Given the description of an element on the screen output the (x, y) to click on. 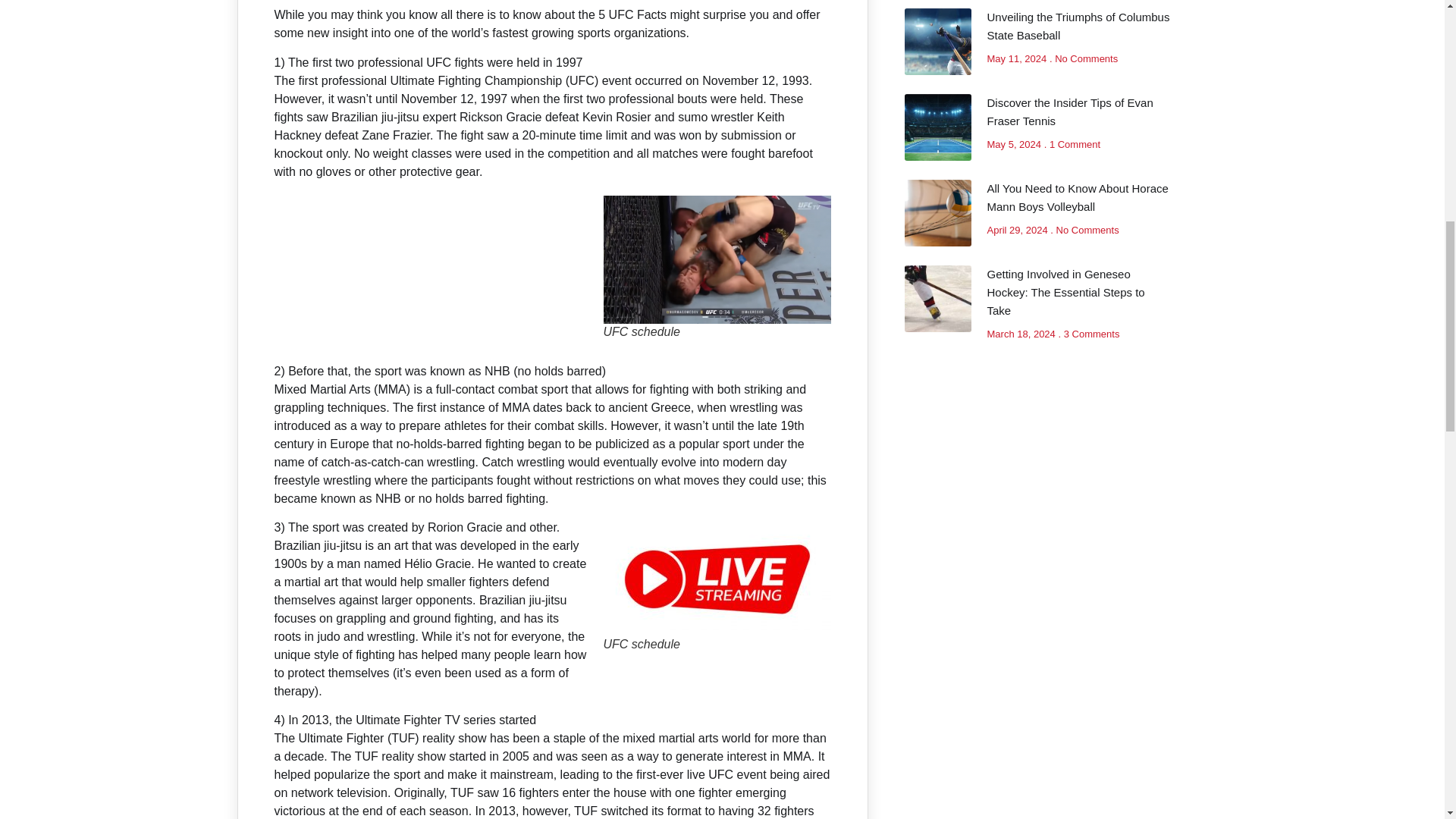
All You Need to Know About Horace Mann Boys Volleyball (1078, 196)
Before that (316, 370)
Discover the Insider Tips of Evan Fraser Tennis (1070, 111)
Unveiling the Triumphs of Columbus State Baseball (1078, 25)
